Given the description of an element on the screen output the (x, y) to click on. 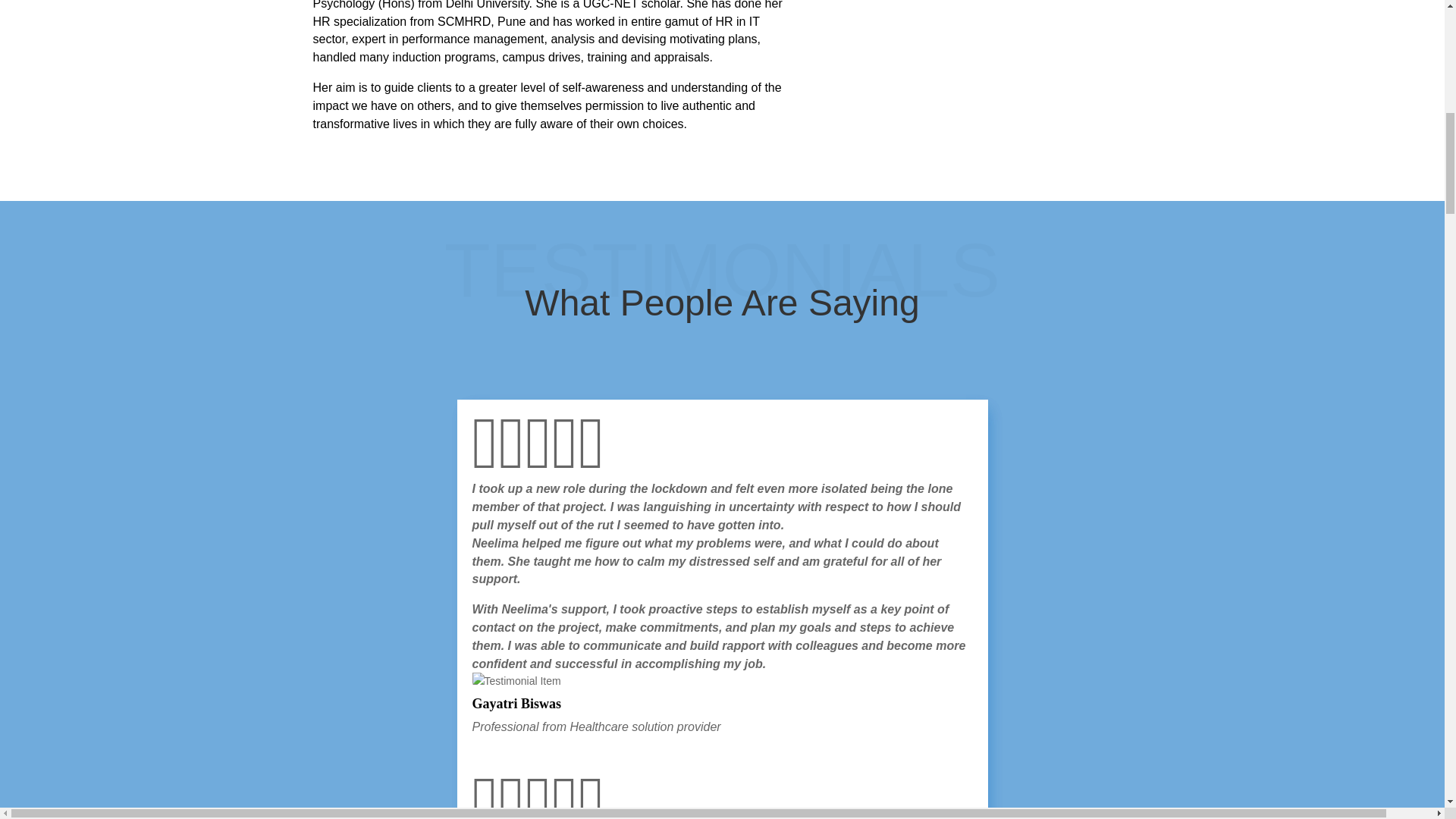
Manisha02-02 (981, 69)
